Given the description of an element on the screen output the (x, y) to click on. 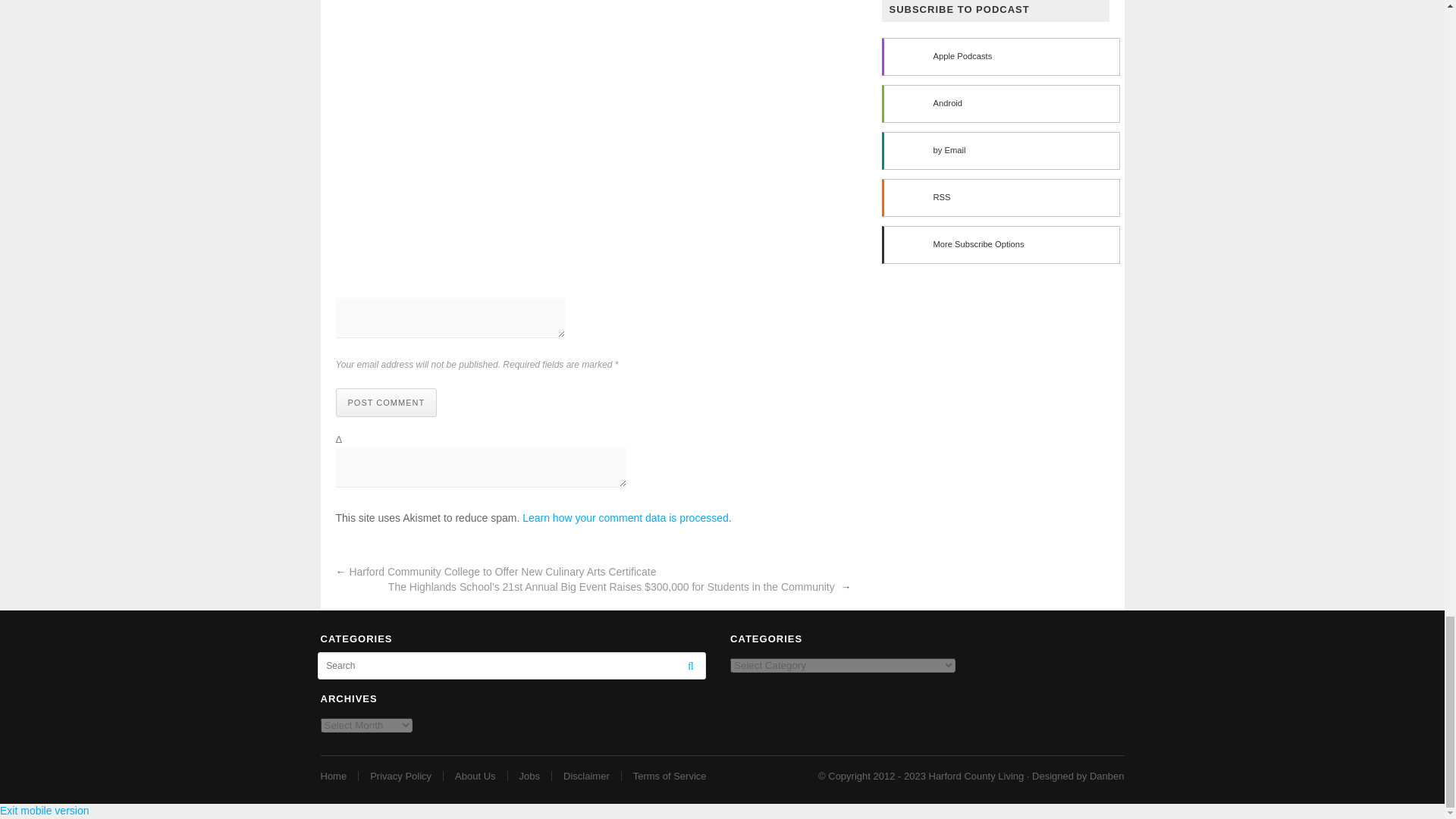
Subscribe on Apple Podcasts (999, 56)
More Subscribe Options (999, 244)
Subscribe by Email (999, 150)
Subscribe on Android (999, 103)
Content Protection by DMCA.com (365, 685)
Subscribe via RSS (999, 198)
